Given the description of an element on the screen output the (x, y) to click on. 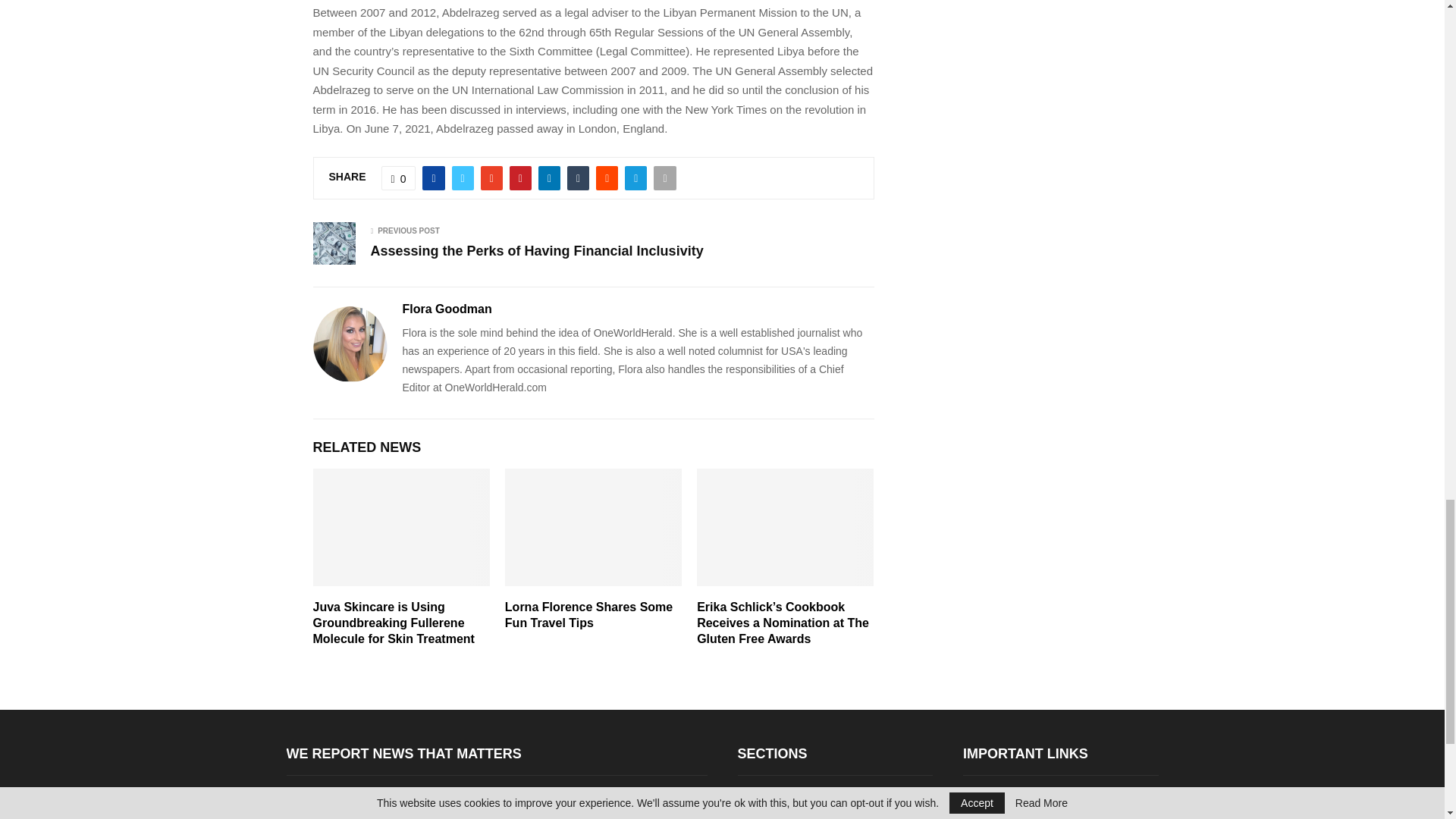
Posts by Flora Goodman (446, 309)
Assessing the Perks of Having Financial Inclusivity (536, 249)
0 (398, 177)
Like (398, 177)
